Given the description of an element on the screen output the (x, y) to click on. 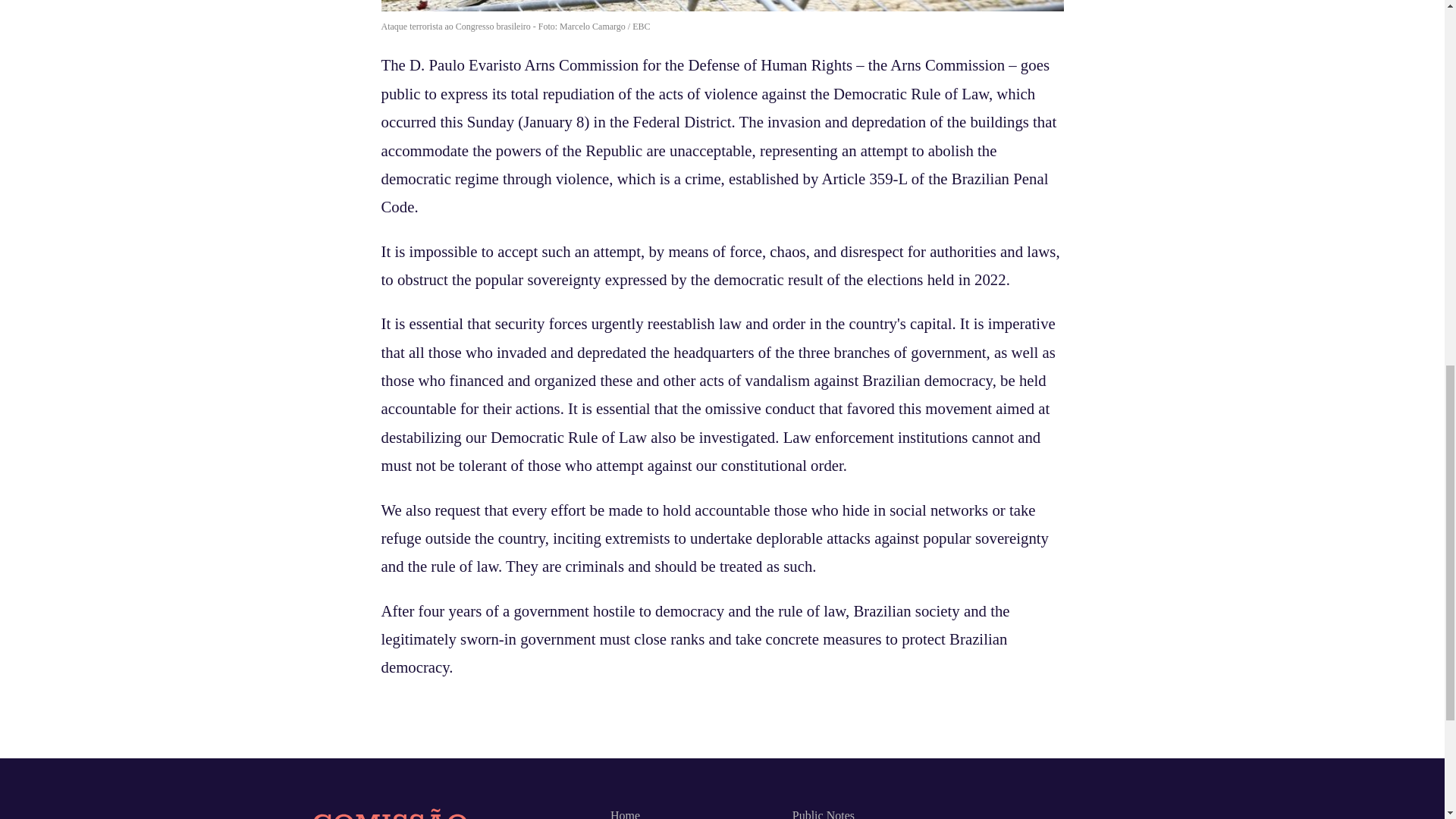
Public Notes (823, 814)
Home (625, 814)
